Given the description of an element on the screen output the (x, y) to click on. 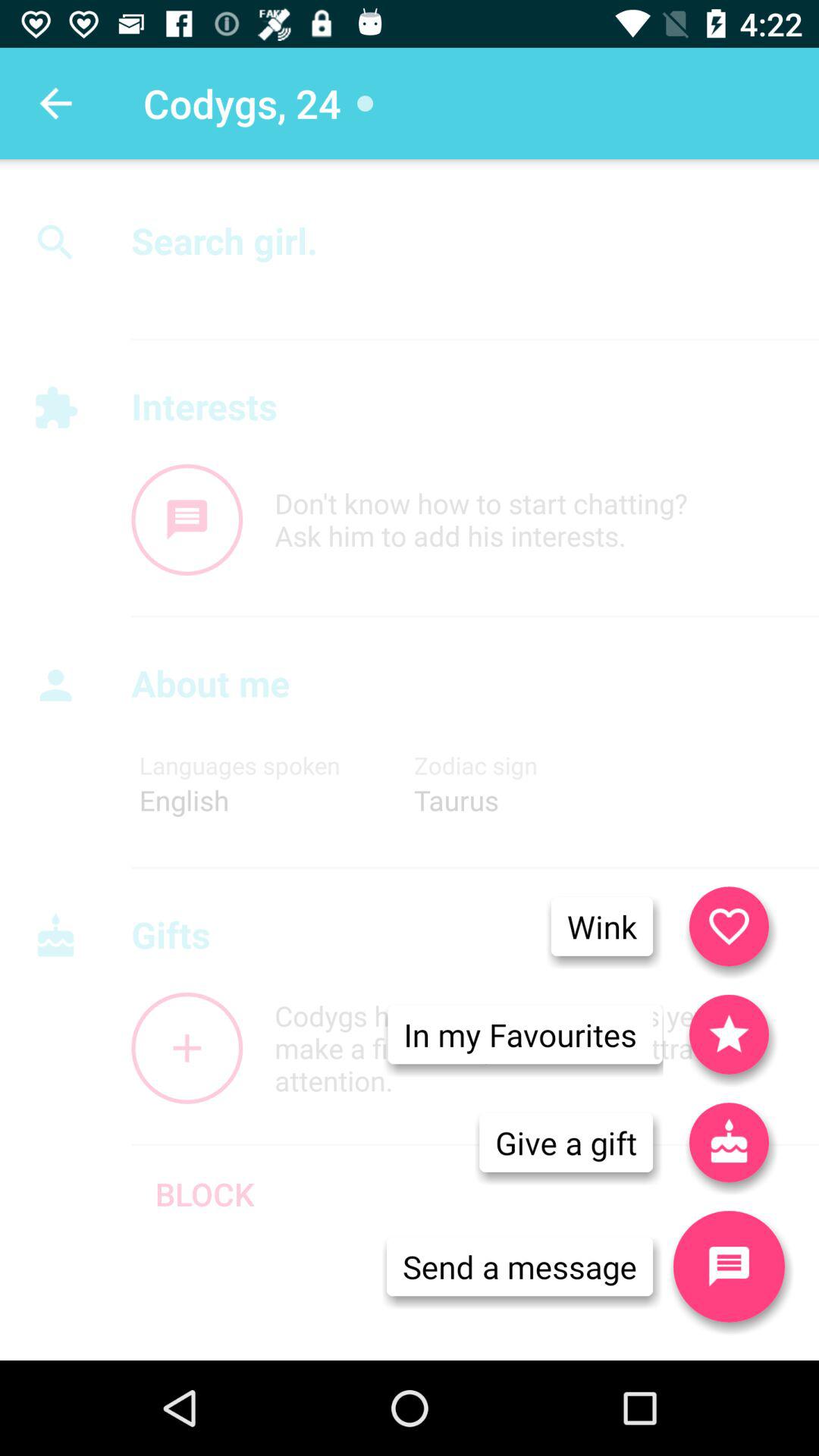
open icon below wink icon (520, 1034)
